Given the description of an element on the screen output the (x, y) to click on. 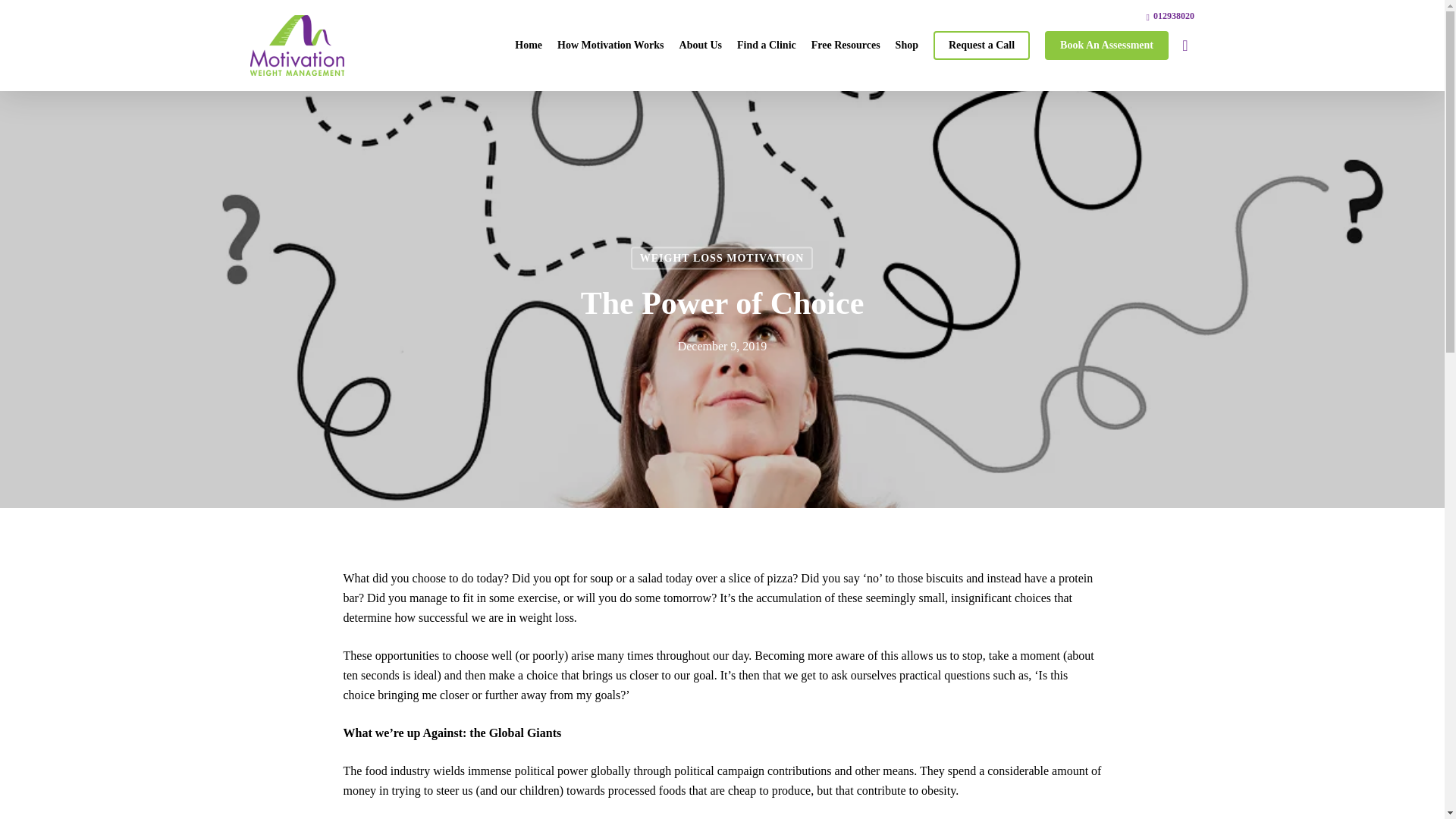
Home (528, 45)
012938020 (1170, 15)
About Us (700, 45)
Free Resources (845, 45)
Find a Clinic (766, 45)
Shop (907, 45)
Book An Assessment (1107, 45)
Request a Call (981, 45)
WEIGHT LOSS MOTIVATION (721, 258)
search (1184, 45)
How Motivation Works (610, 45)
